Given the description of an element on the screen output the (x, y) to click on. 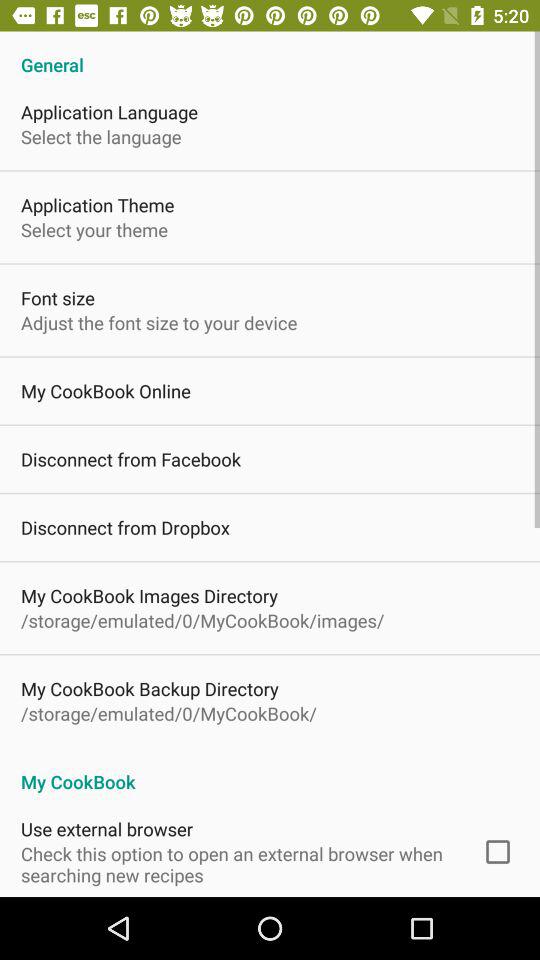
launch the item above the application theme icon (101, 136)
